Given the description of an element on the screen output the (x, y) to click on. 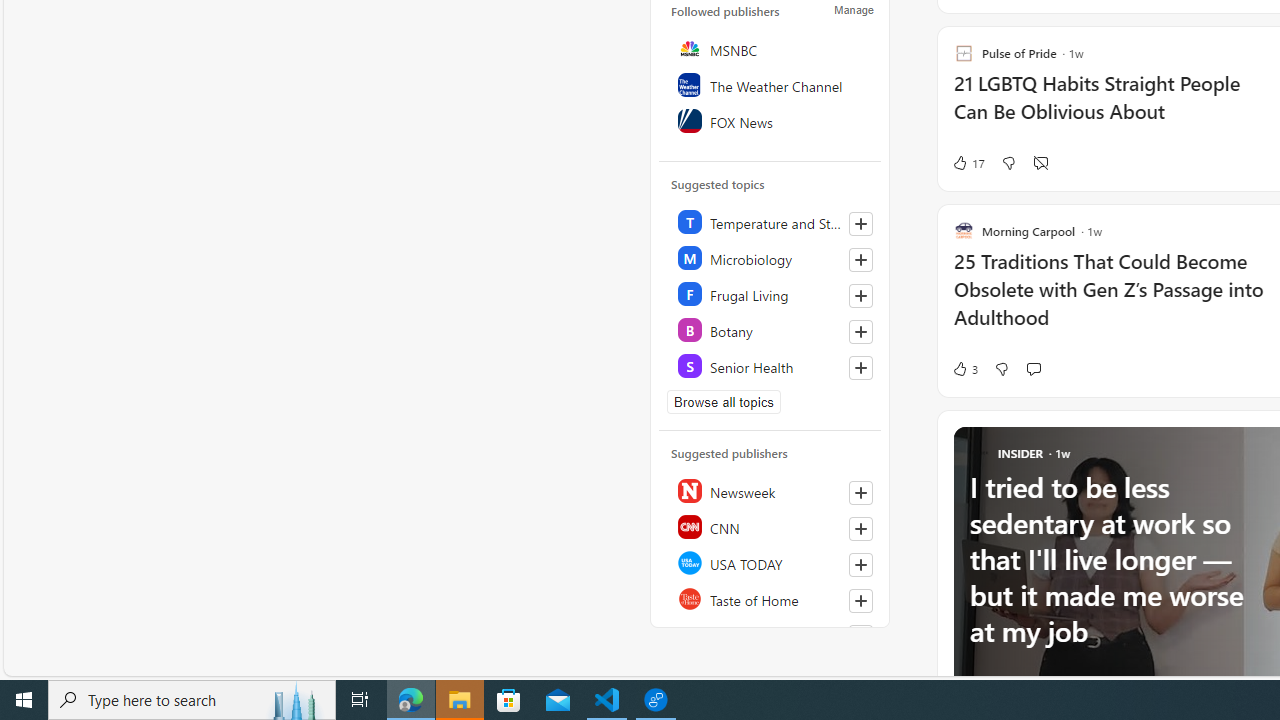
Browse all topics (724, 401)
USA TODAY (771, 562)
Class: highlight (771, 365)
Follow this topic (860, 367)
Dislike (1001, 368)
Manage (854, 9)
NBC News (771, 634)
Newsweek (771, 490)
21 LGBTQ Habits Straight People Can Be Oblivious About (1115, 107)
CNN (771, 526)
Follow this topic (860, 367)
